Given the description of an element on the screen output the (x, y) to click on. 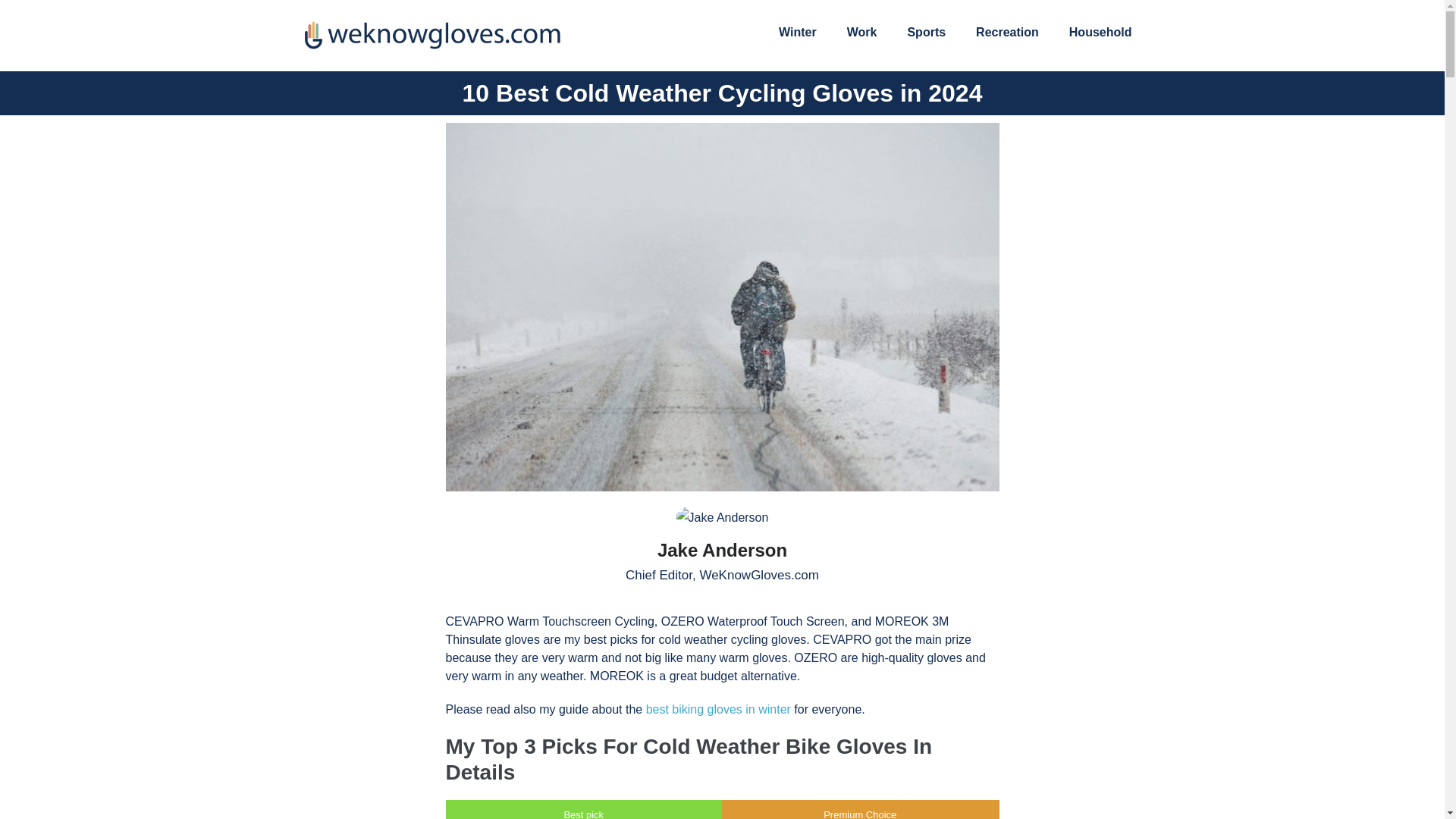
Winter (796, 32)
Household (1100, 32)
Sports (925, 32)
Recreation (1007, 32)
Work (861, 32)
